Given the description of an element on the screen output the (x, y) to click on. 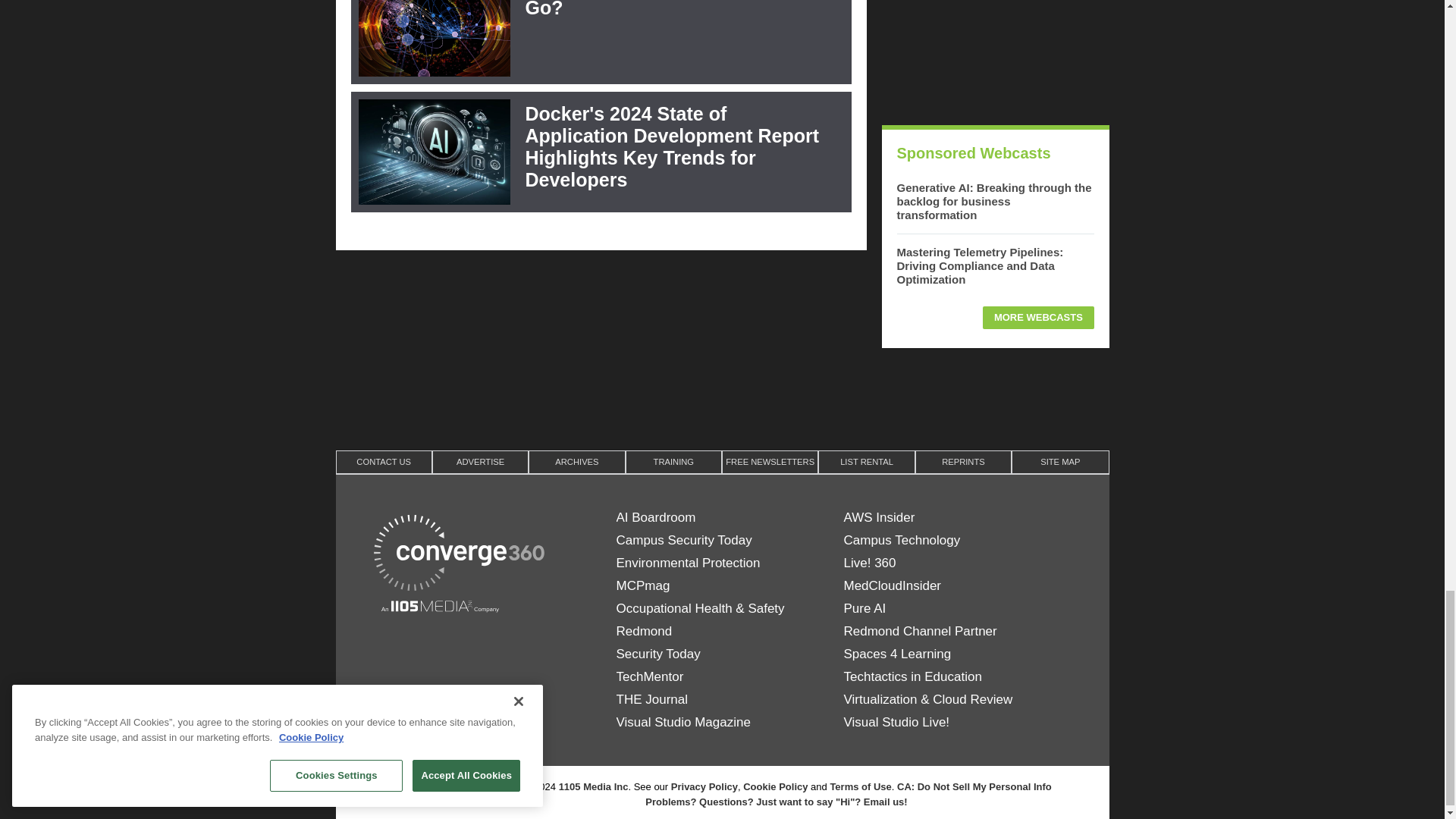
3rd party ad content (721, 397)
3rd party ad content (994, 54)
